Given the description of an element on the screen output the (x, y) to click on. 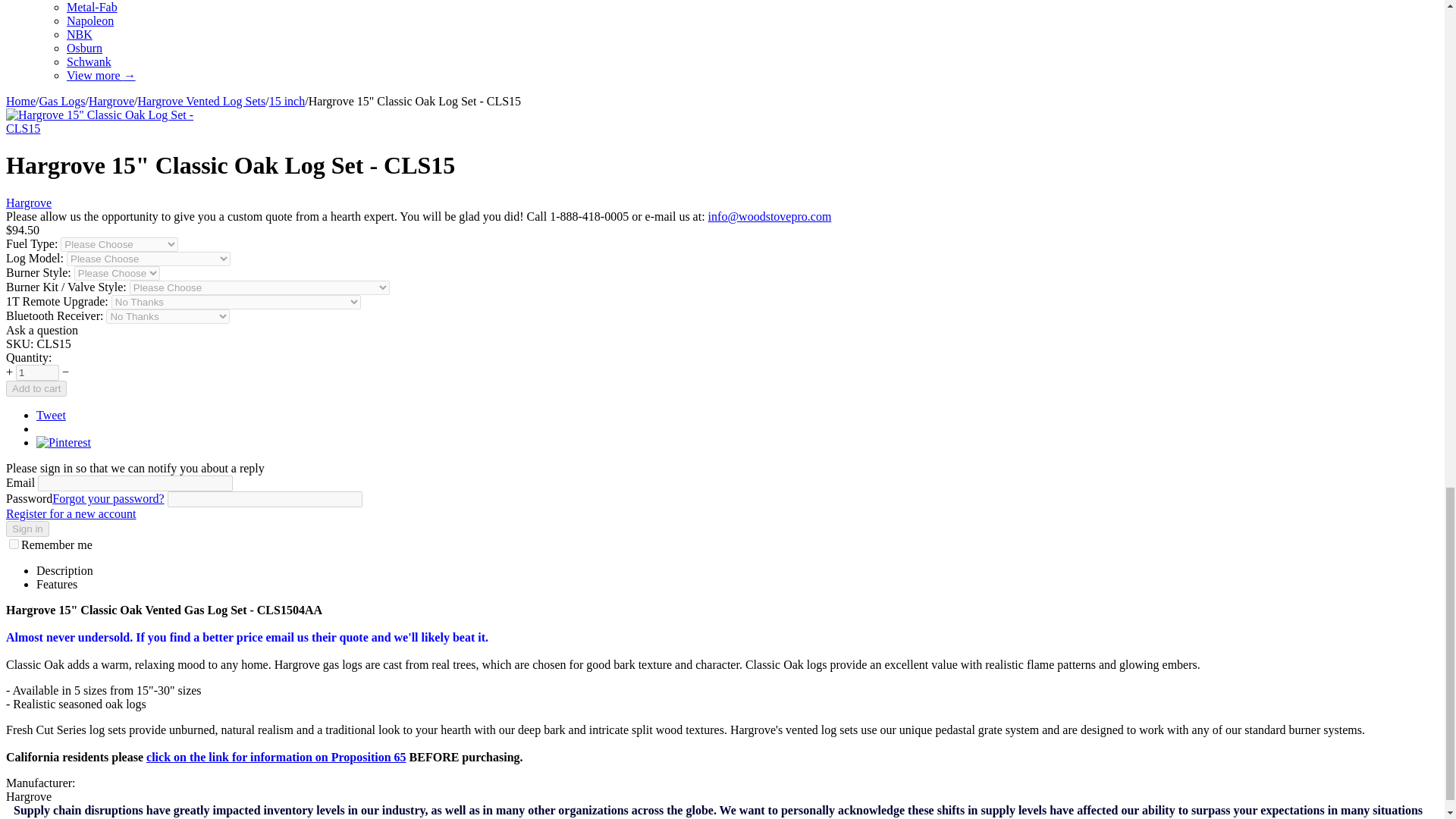
Hargrove 15" Classic Oak Log Set - CLS15 (111, 128)
1 (37, 372)
Y (13, 543)
Hargrove 15" Classic Oak Log Set - CLS15 (111, 121)
Ask a question (41, 329)
